Given the description of an element on the screen output the (x, y) to click on. 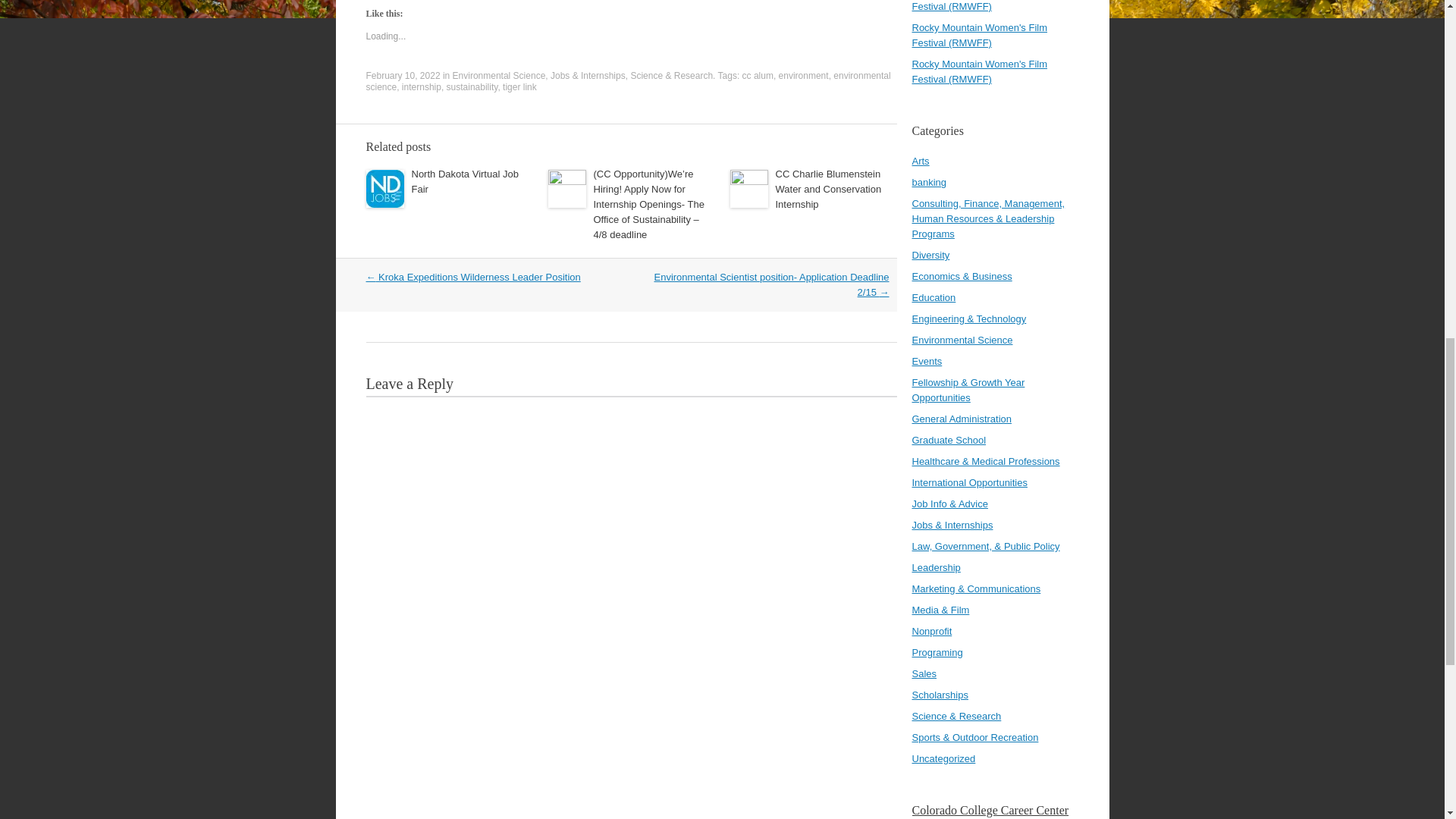
Permalink to North Dakota Virtual Job Fair (464, 181)
February 10, 2022 (402, 75)
tiger link (519, 86)
North Dakota Virtual Job Fair (464, 181)
Environmental Science (499, 75)
sustainability (471, 86)
environmental science (627, 81)
internship (421, 86)
environment (803, 75)
CC Charlie Blumenstein Water and Conservation Internship (827, 188)
cc alum (757, 75)
